Given the description of an element on the screen output the (x, y) to click on. 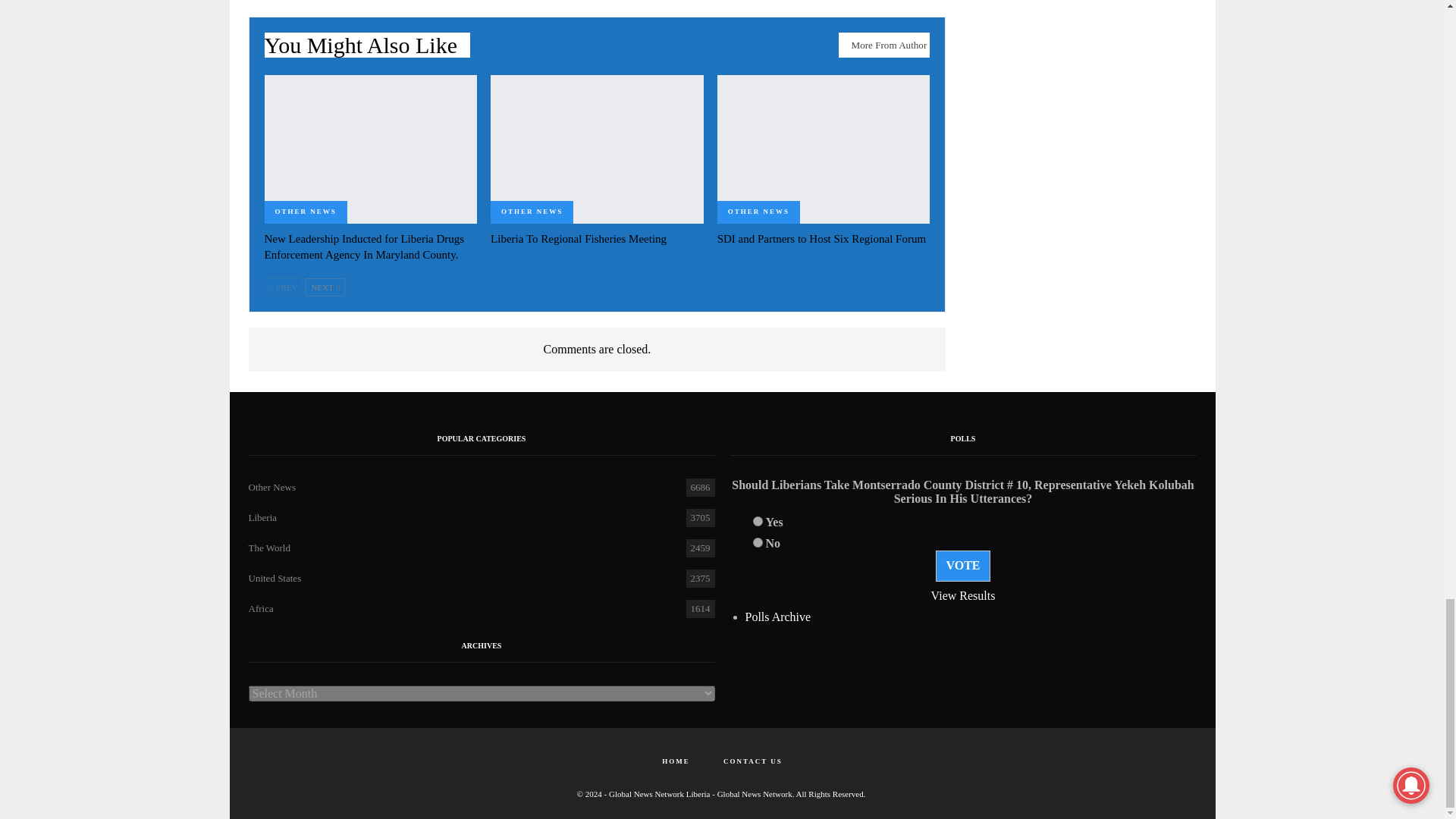
Previous (282, 287)
You Might Also Like (366, 48)
More From Author (884, 44)
Liberia To Regional Fisheries Meeting (578, 238)
Next (325, 287)
SDI and Partners to Host Six Regional Forum (821, 238)
376 (756, 521)
Liberia To Regional Fisheries Meeting (596, 149)
View Results Of This Poll (963, 594)
SDI and Partners to Host Six Regional Forum (823, 149)
377 (756, 542)
OTHER NEWS (531, 211)
